Given the description of an element on the screen output the (x, y) to click on. 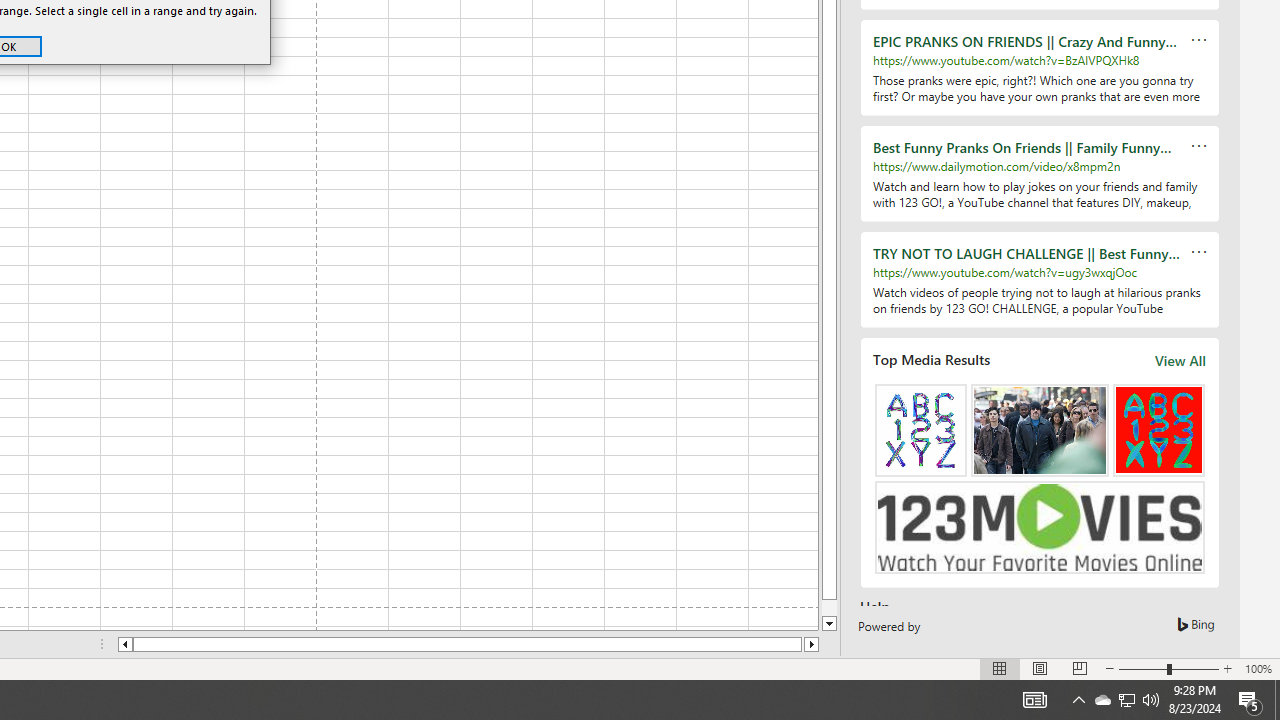
Zoom In (1227, 668)
Notification Chevron (1078, 699)
User Promoted Notification Area (1126, 699)
